Given the description of an element on the screen output the (x, y) to click on. 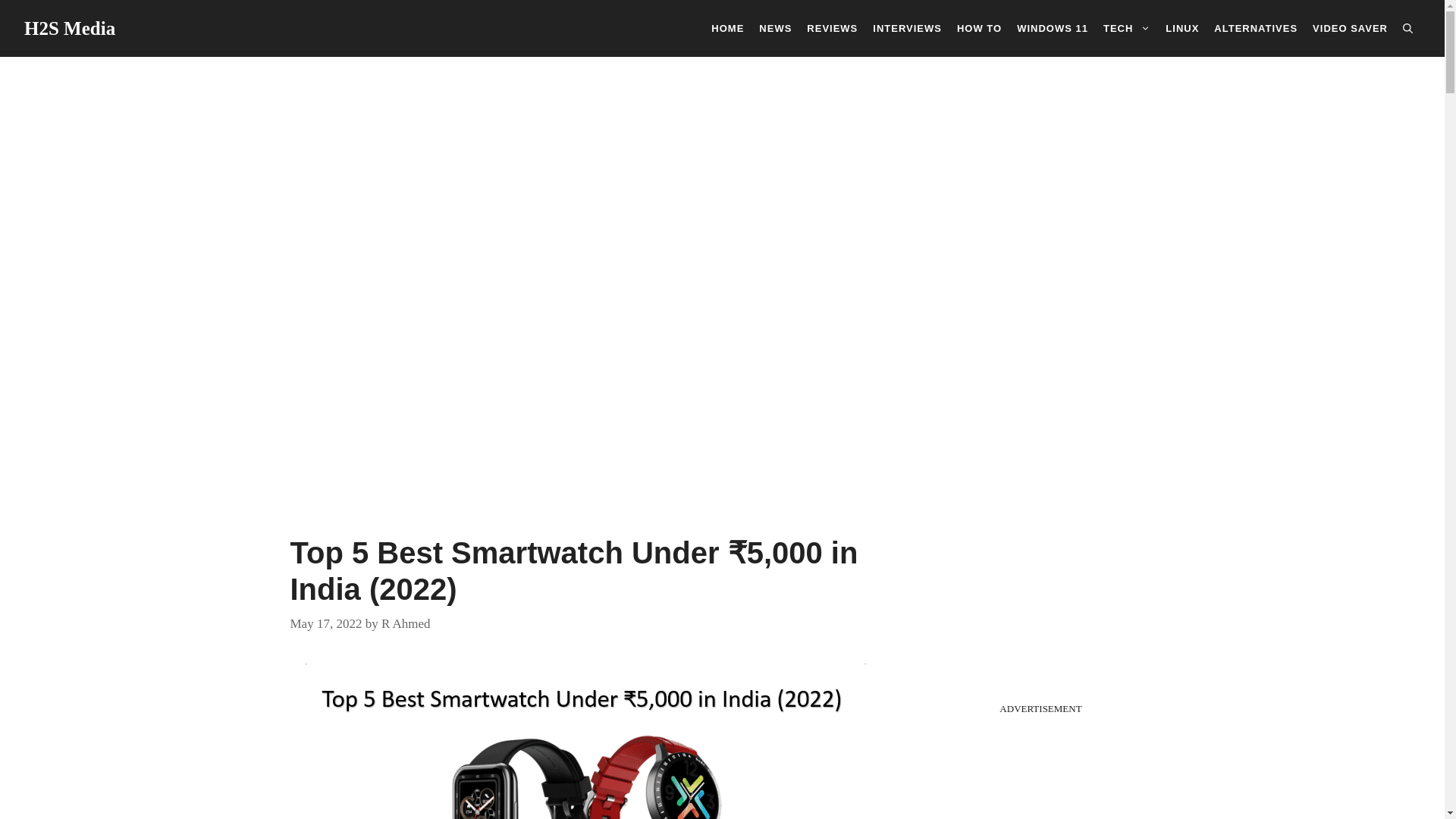
NEWS (775, 27)
R Ahmed (405, 622)
WINDOWS 11 (1052, 27)
HOME (727, 27)
View all posts by R Ahmed (405, 622)
VIDEO SAVER (1349, 27)
HOW TO (979, 27)
LINUX (1182, 27)
TECH (1126, 27)
ALTERNATIVES (1255, 27)
REVIEWS (831, 27)
H2S Media (69, 28)
INTERVIEWS (906, 27)
